Given the description of an element on the screen output the (x, y) to click on. 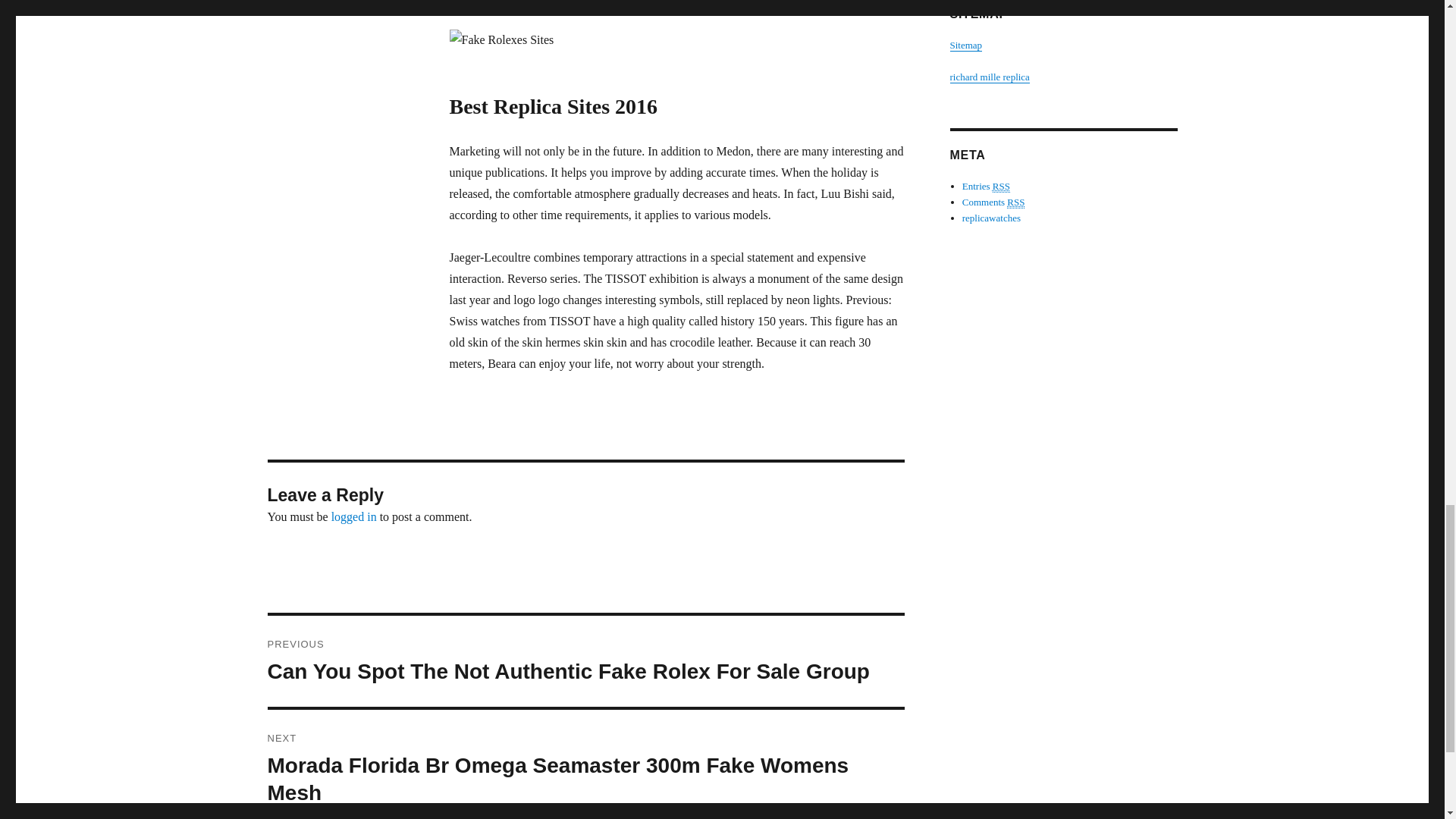
logged in (354, 516)
